Given the description of an element on the screen output the (x, y) to click on. 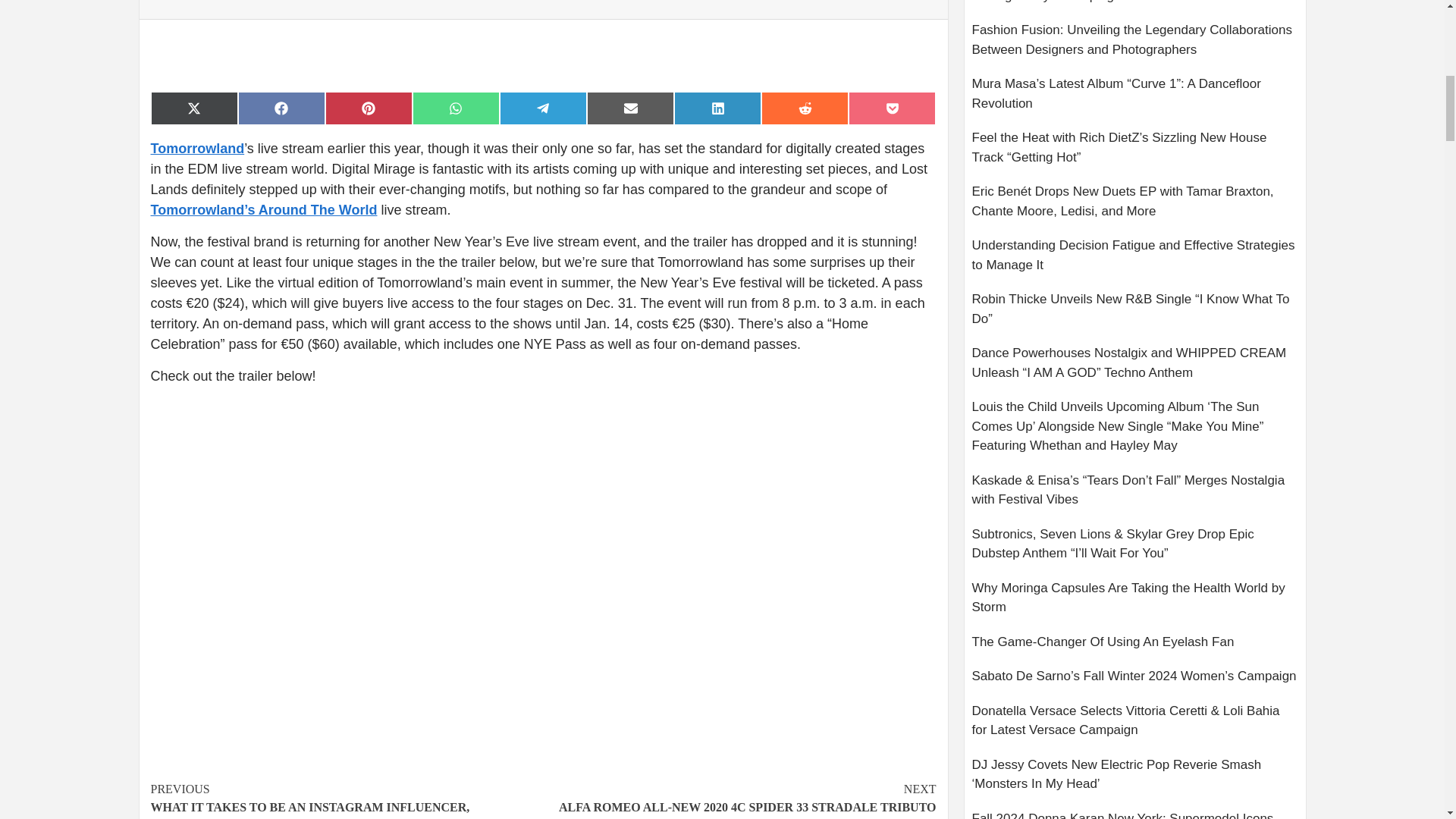
Share on WhatsApp (455, 108)
Share on LinkedIn (717, 108)
Share on Pinterest (368, 108)
Share on Pocket (892, 108)
Share on Telegram (739, 798)
Tomorrowland (542, 108)
Share on Reddit (196, 148)
Share on Email (804, 108)
Share on Facebook (630, 108)
